Given the description of an element on the screen output the (x, y) to click on. 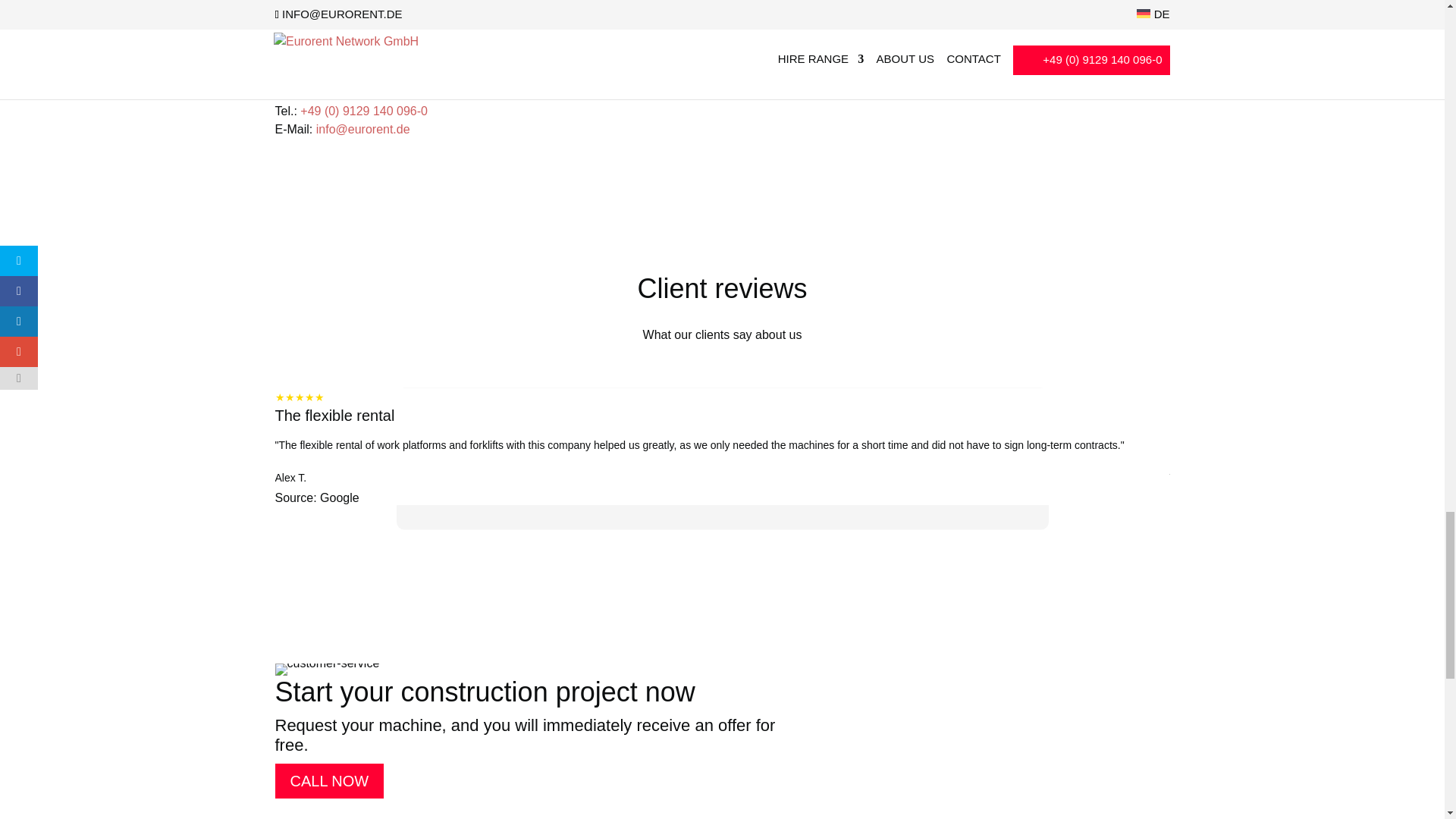
1 (929, 35)
customer service long (326, 669)
